Given the description of an element on the screen output the (x, y) to click on. 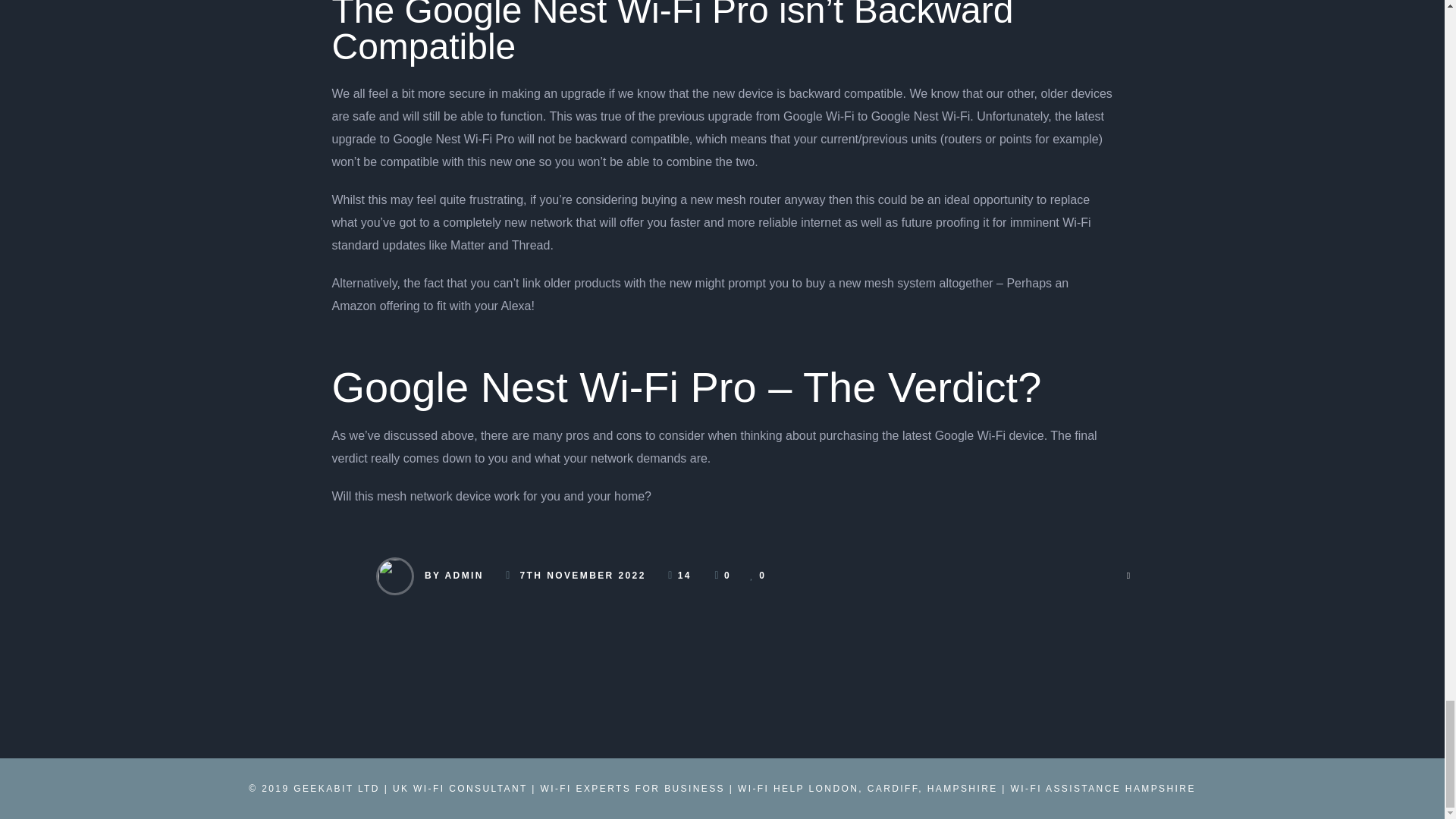
7TH NOVEMBER 2022 (582, 575)
BY ADMIN (454, 575)
